Given the description of an element on the screen output the (x, y) to click on. 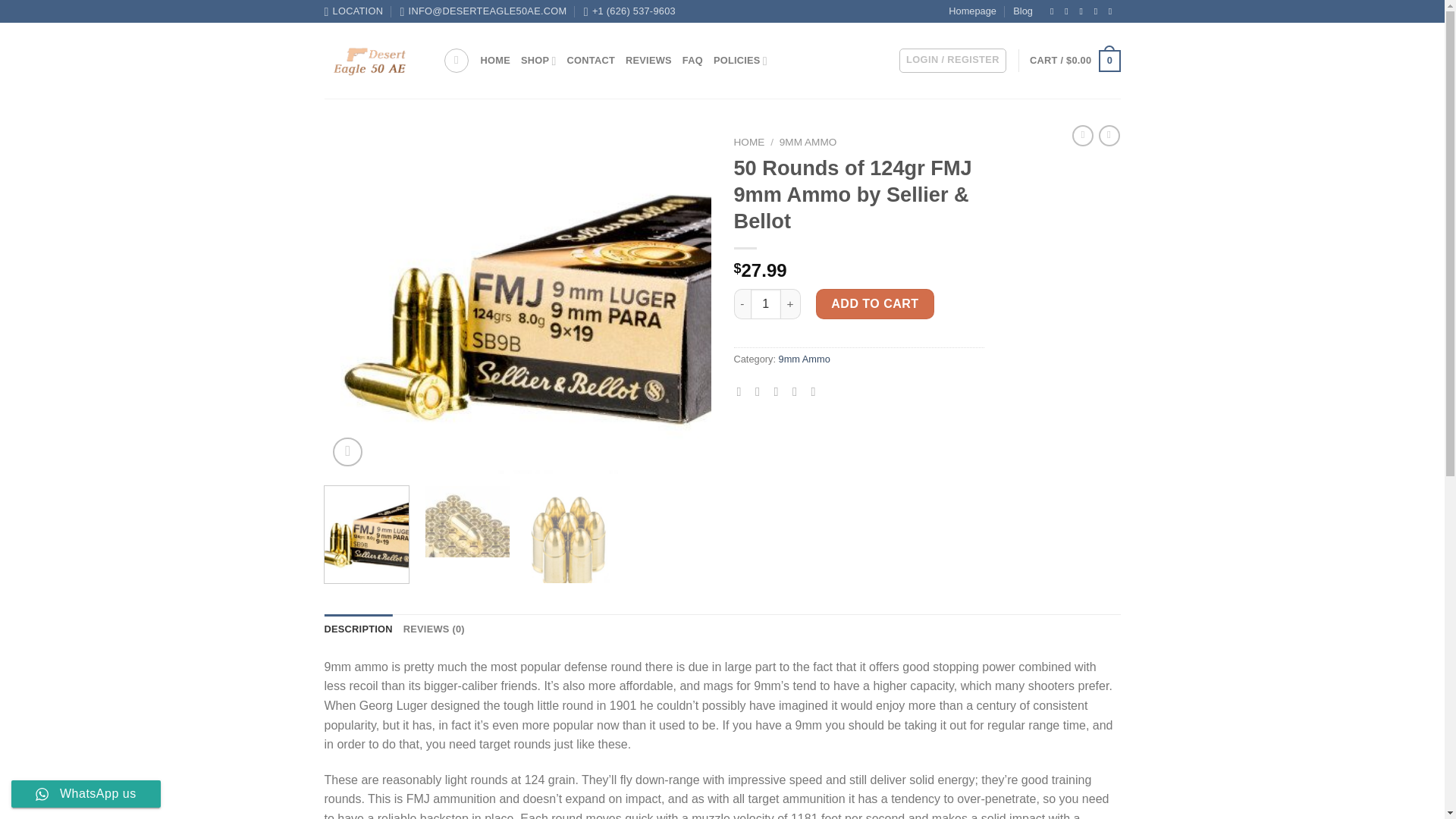
1 (765, 304)
Desert Eagle 50 AE - Desert Eagle 50 AE for Sale (372, 60)
Cart (1074, 61)
HOME (495, 60)
Qty (765, 304)
SHOP (538, 60)
LOCATION (354, 11)
CONTACT (590, 60)
Homepage (972, 11)
